Given the description of an element on the screen output the (x, y) to click on. 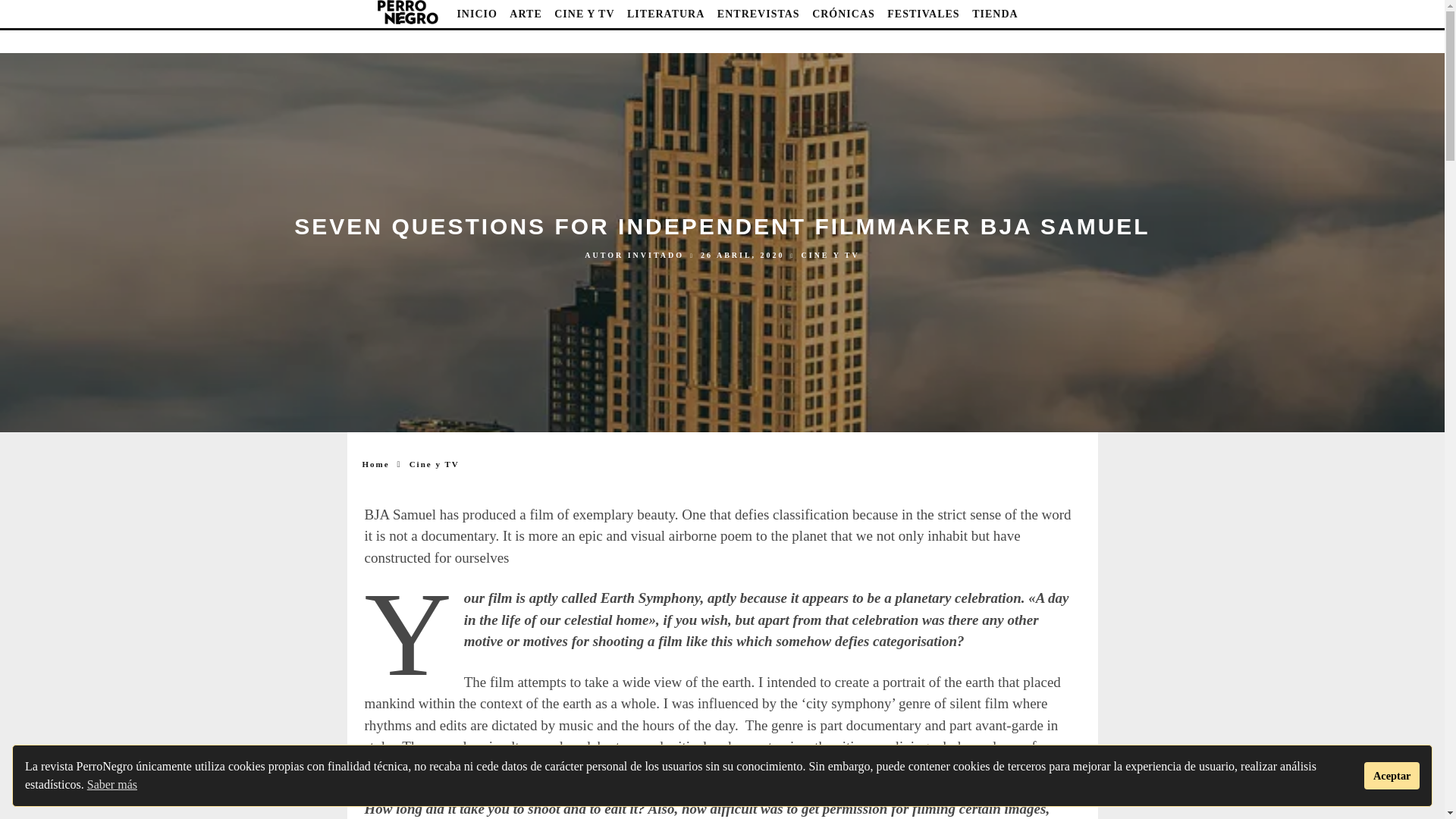
CINE Y TV (584, 13)
Aceptar (1391, 775)
INICIO (475, 13)
ARTE (525, 13)
